Given the description of an element on the screen output the (x, y) to click on. 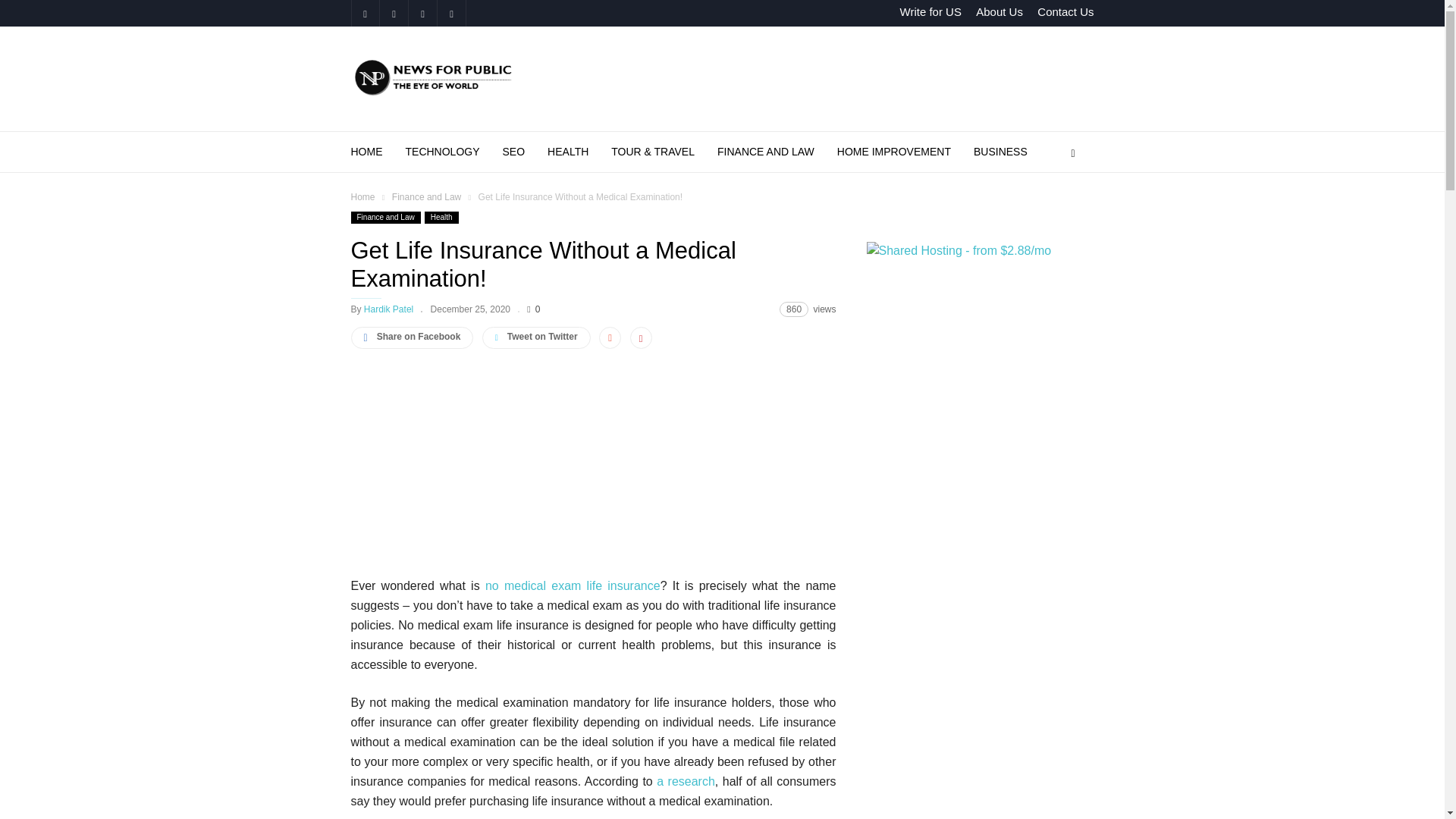
HOME (377, 151)
View all posts in Finance and Law (426, 196)
About Us (999, 11)
TECHNOLOGY (453, 151)
Facebook (364, 13)
SEO (525, 151)
Write for US (929, 11)
RSS (421, 13)
FINANCE AND LAW (777, 151)
Pinterest (392, 13)
